Given the description of an element on the screen output the (x, y) to click on. 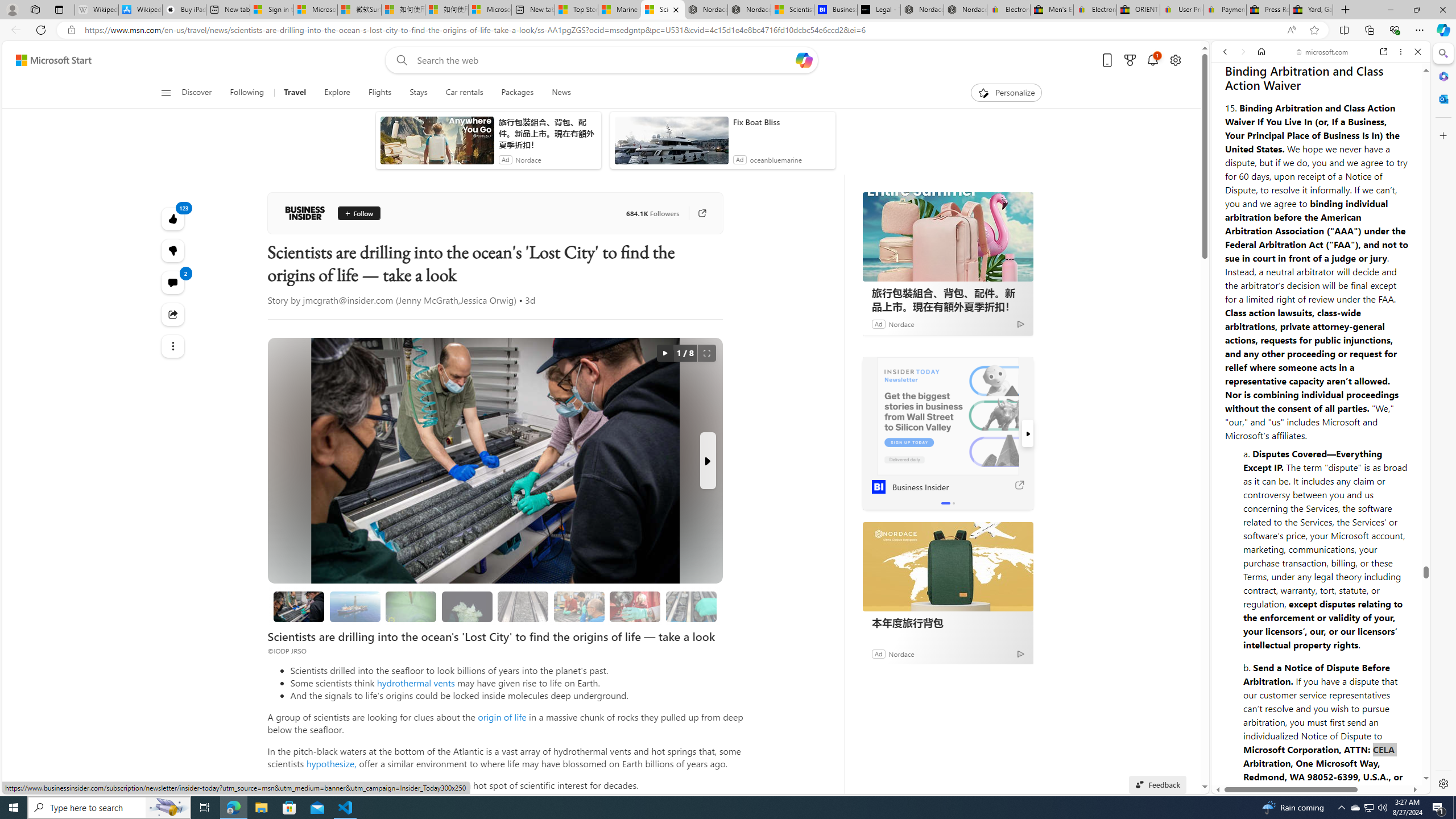
Follow (358, 213)
Flights (379, 92)
hydrothermal vents (415, 682)
